Given the description of an element on the screen output the (x, y) to click on. 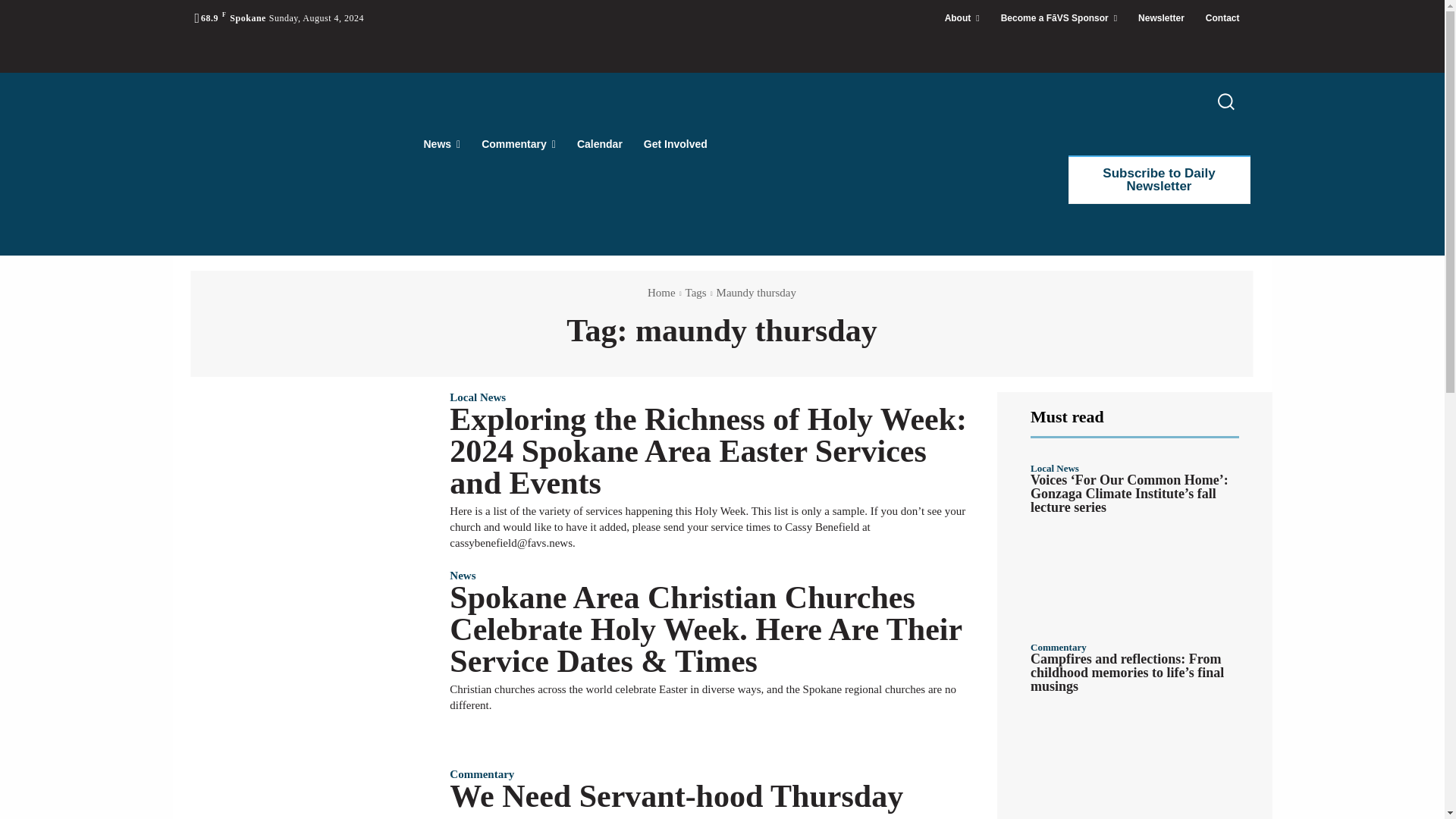
Newsletter (1160, 18)
About (962, 18)
News (441, 144)
Contact (1222, 18)
